Given the description of an element on the screen output the (x, y) to click on. 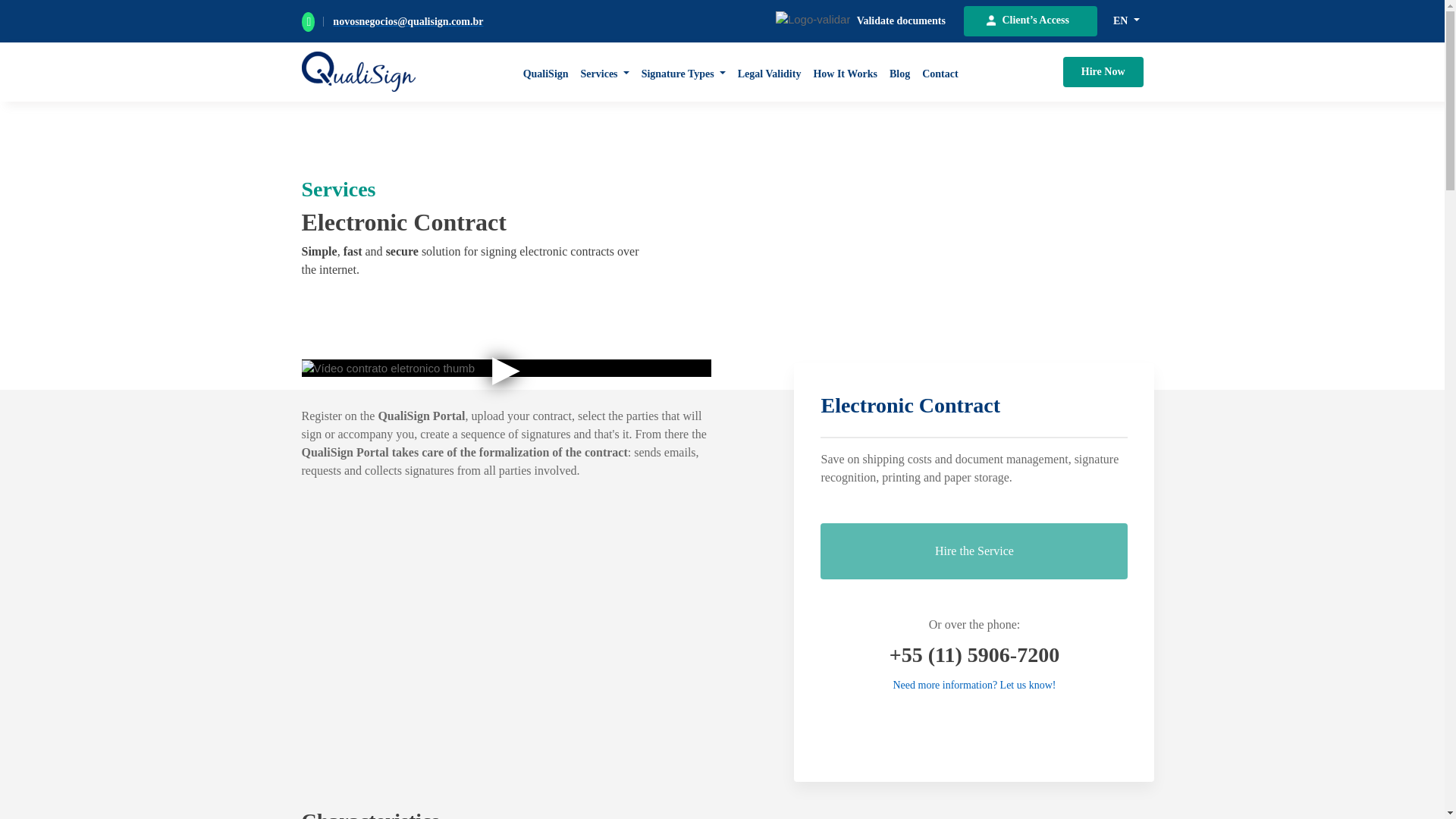
QualiSign (545, 72)
Services (604, 72)
Hire the Service (973, 551)
Validate documents (900, 20)
Need more information? Let us know! (973, 685)
Hire Now (1102, 71)
Contact (939, 72)
How It Works (844, 72)
Services (604, 72)
EN (1125, 20)
